Given the description of an element on the screen output the (x, y) to click on. 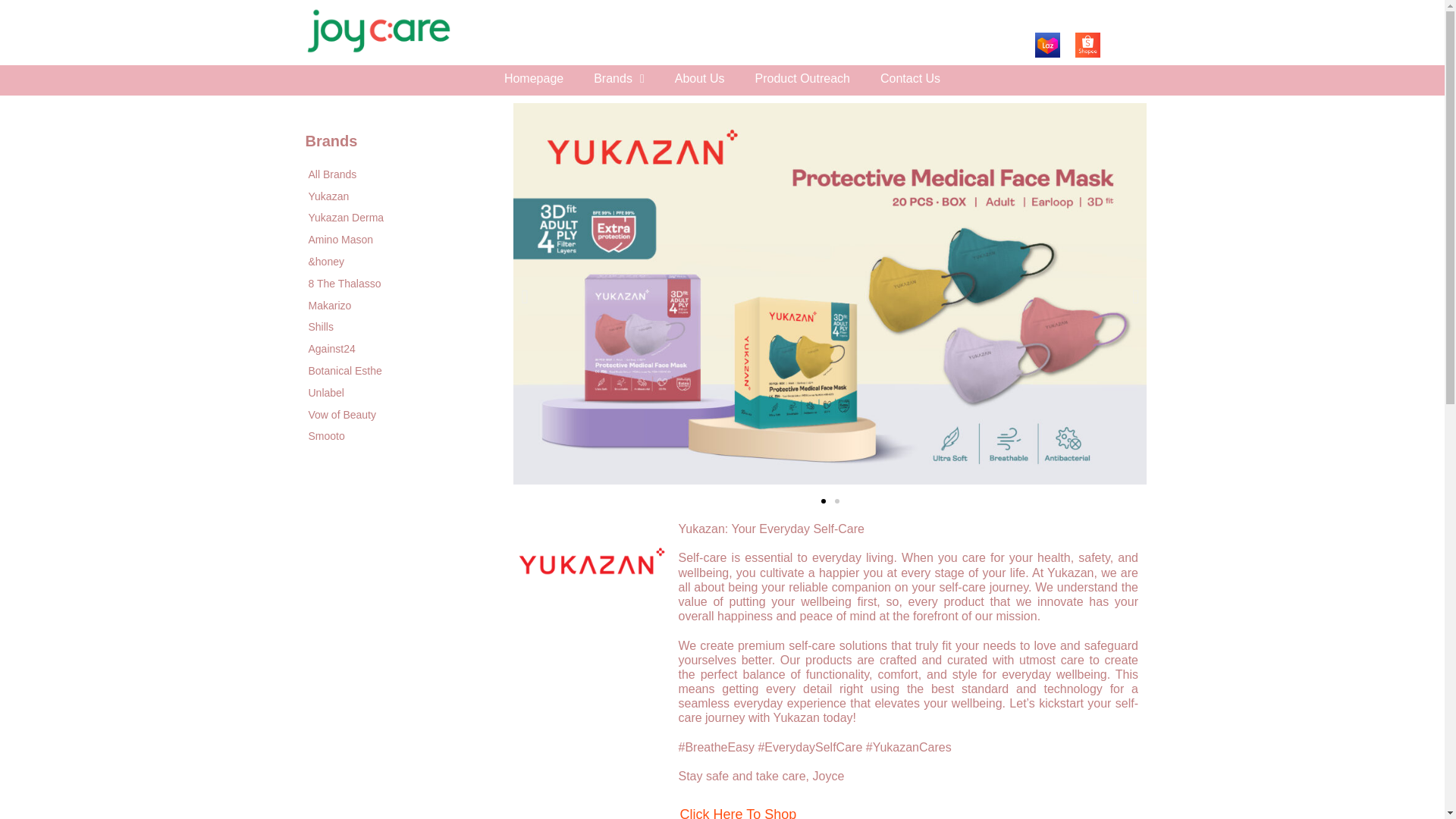
Homepage (533, 78)
About Us (699, 78)
Brands (618, 78)
Contact Us (909, 78)
Yukazan (391, 196)
Product Outreach (801, 78)
All Brands (391, 174)
